Given the description of an element on the screen output the (x, y) to click on. 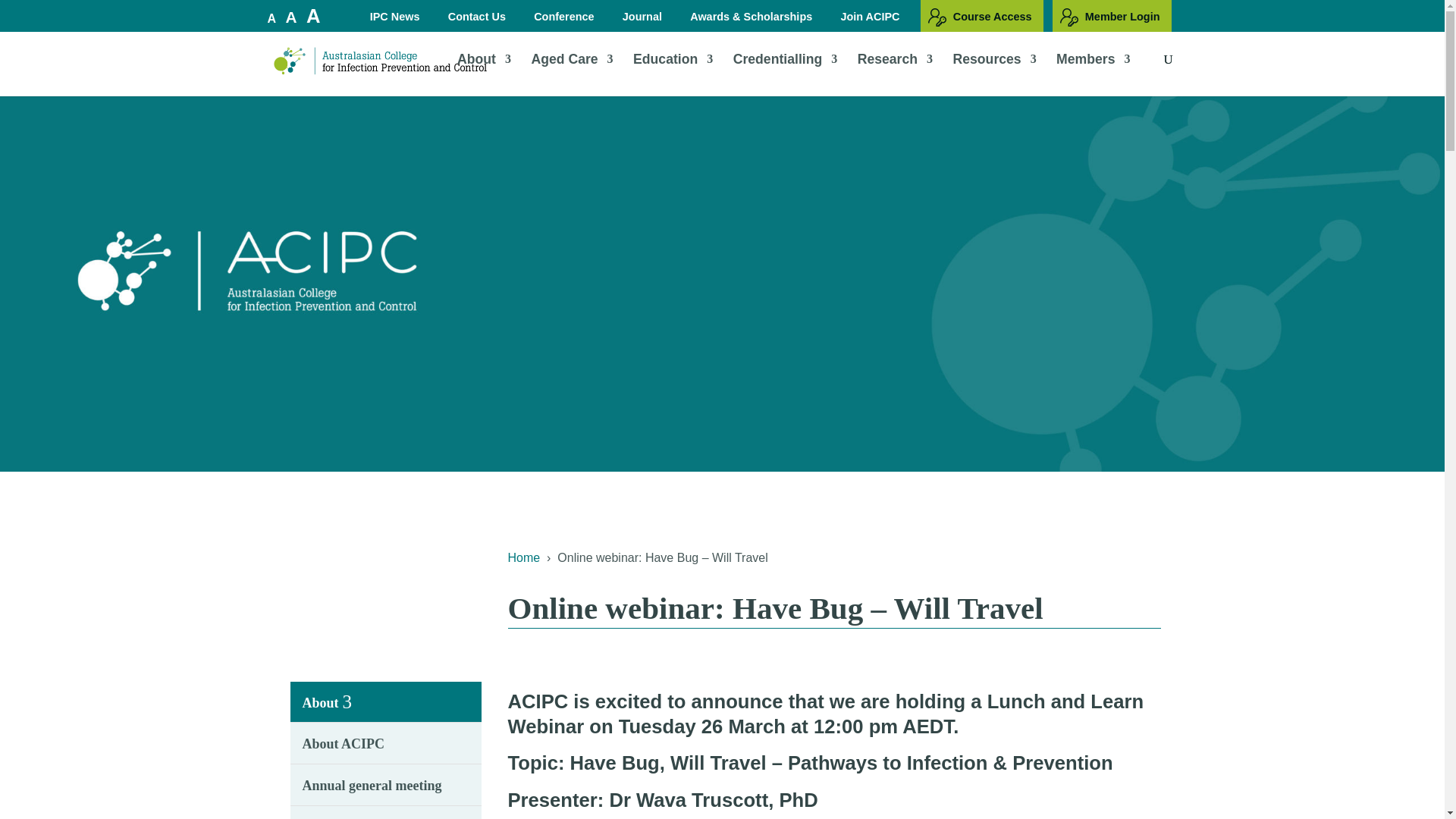
Journal (643, 20)
Join ACIPC (871, 20)
Course Access (981, 15)
Member Login (1112, 15)
Contact Us (478, 20)
Conference (565, 20)
About (484, 74)
Aged Care (571, 74)
IPC News (396, 20)
